Given the description of an element on the screen output the (x, y) to click on. 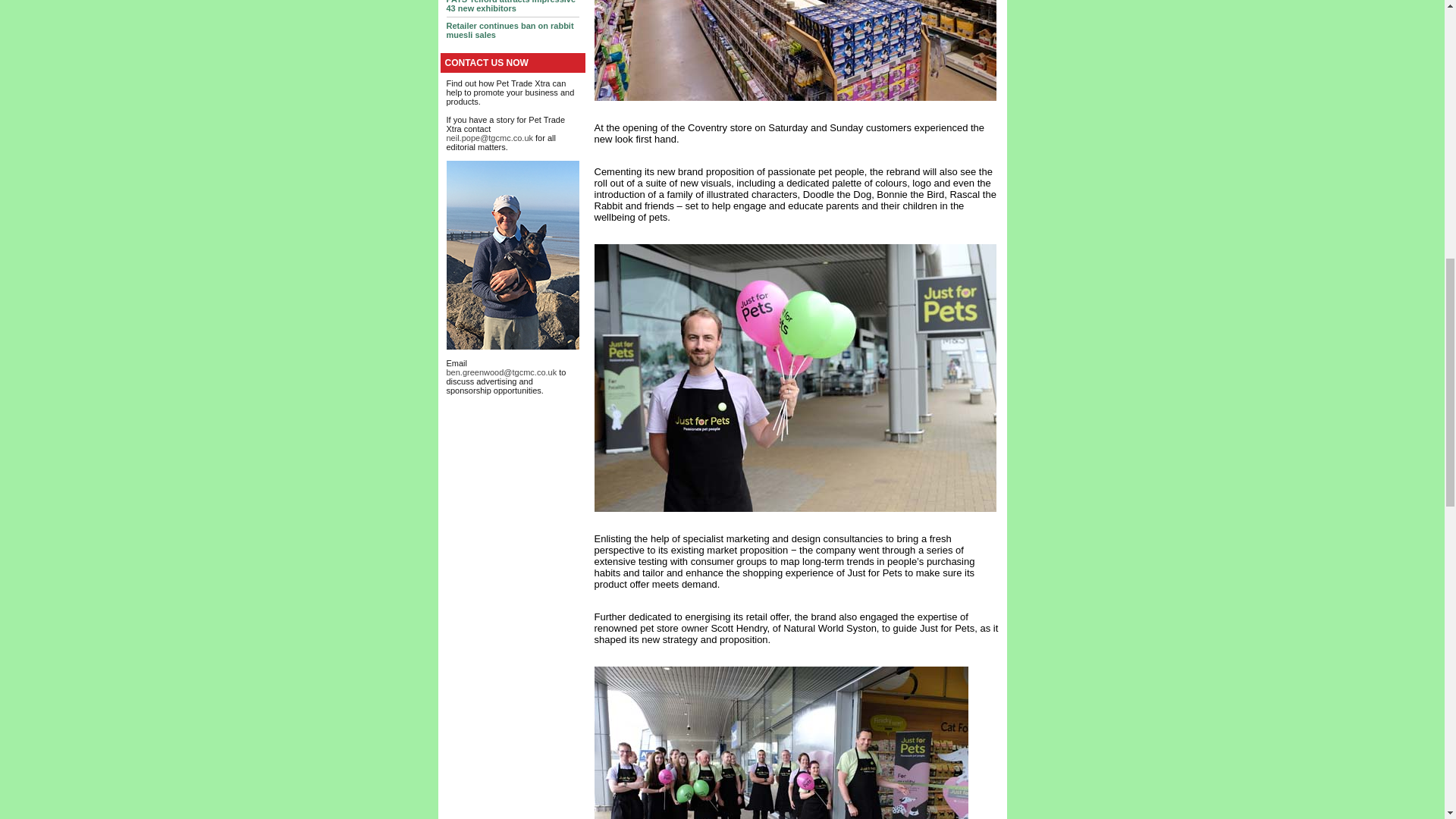
Retailer continues ban on rabbit muesli sales (509, 30)
PATS Telford attracts impressive 43 new exhibitors (510, 6)
